Given the description of an element on the screen output the (x, y) to click on. 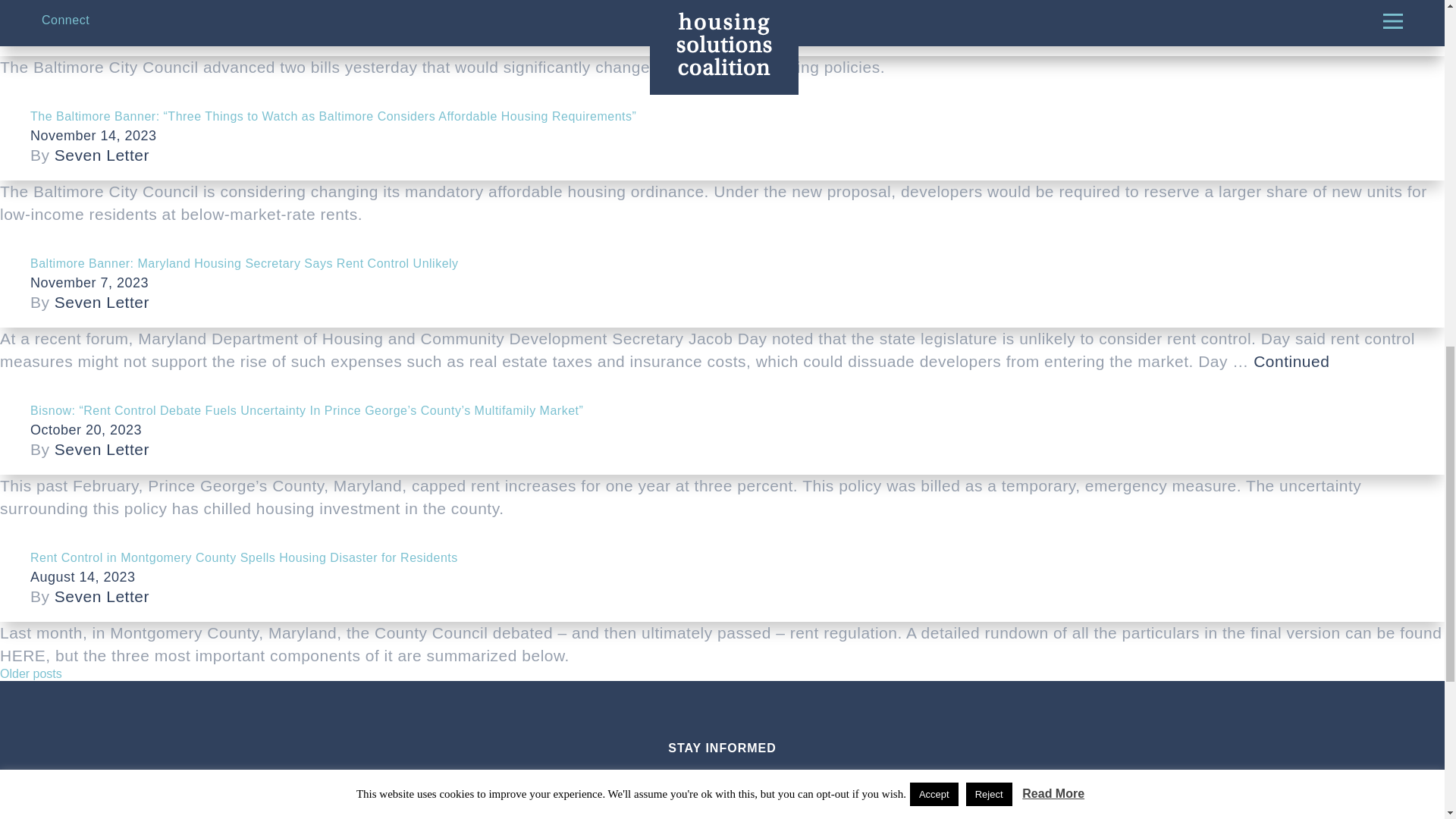
Seven Letter (102, 154)
Seven Letter (102, 596)
Seven Letter (102, 302)
Seven Letter (102, 30)
Seven Letter (102, 448)
Continued (1291, 361)
Older posts (31, 673)
